Given the description of an element on the screen output the (x, y) to click on. 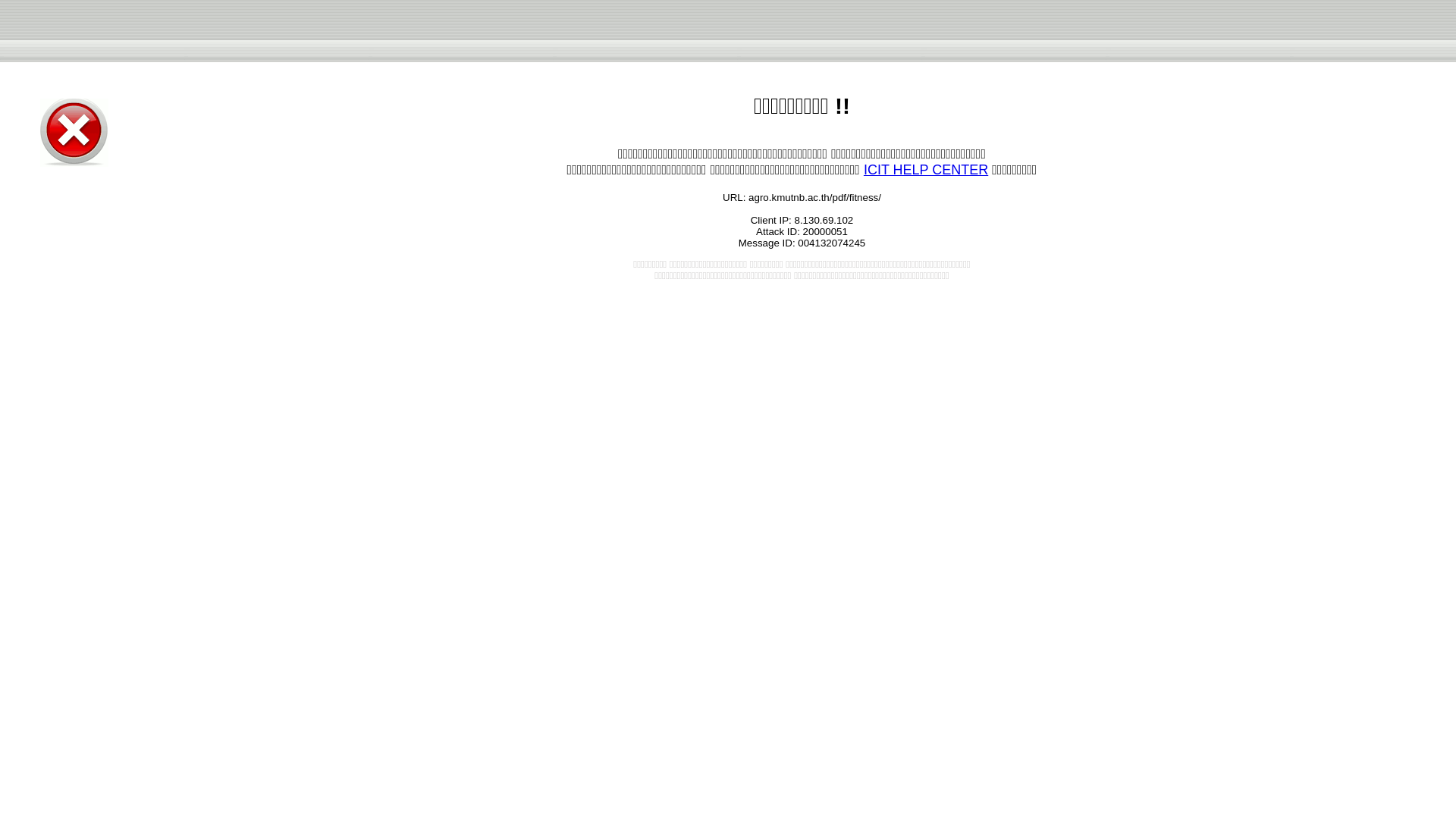
ICIT HELP CENTER (925, 169)
